Given the description of an element on the screen output the (x, y) to click on. 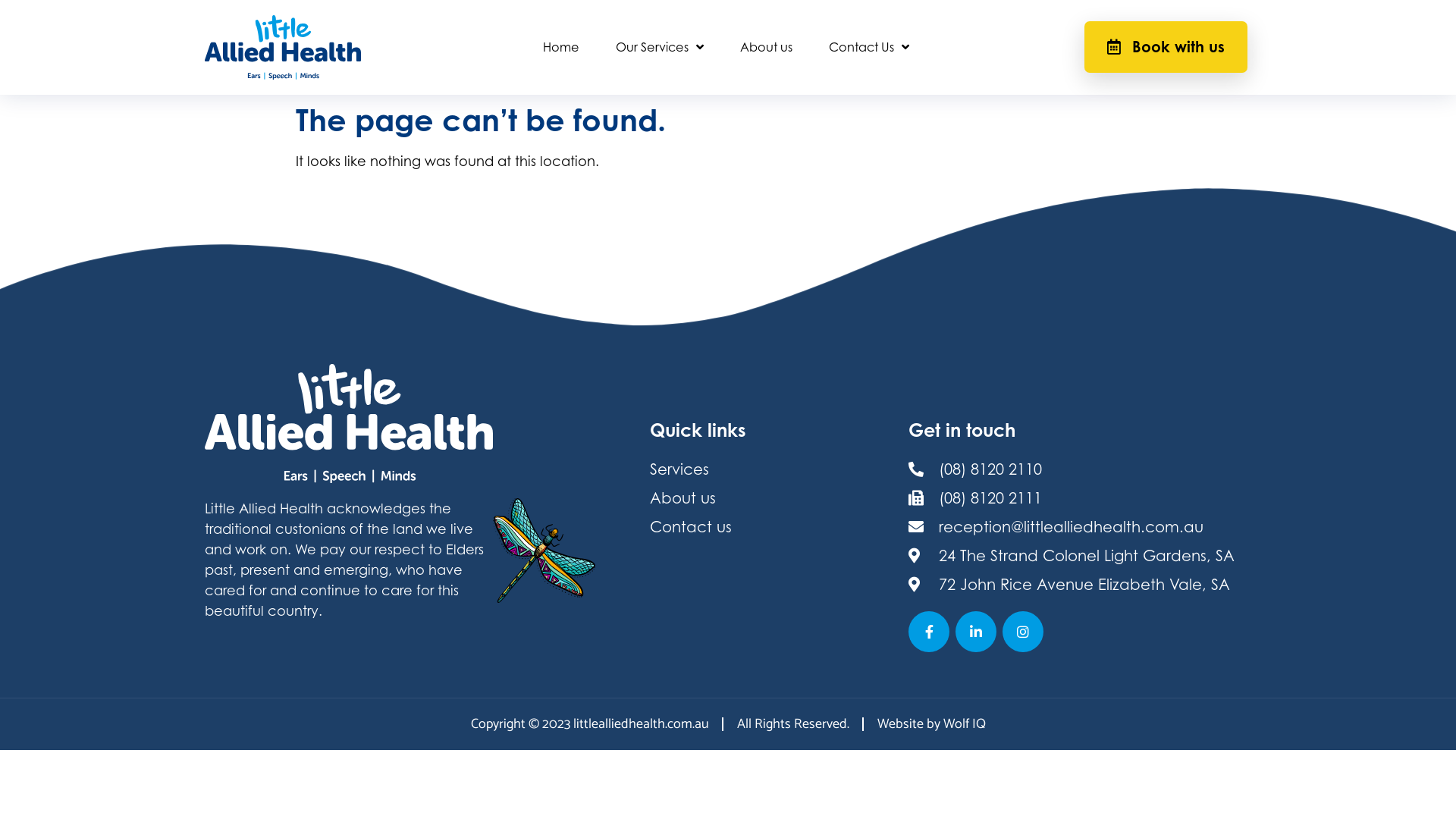
Our Services Element type: text (659, 46)
littlealliedhealth.com.au Element type: text (641, 723)
reception@littlealliedhealth.com.au Element type: text (1077, 526)
About us Element type: text (771, 497)
72 John Rice Avenue Elizabeth Vale, SA Element type: text (1077, 584)
(08) 8120 2110 Element type: text (1077, 469)
Book with us Element type: text (1165, 46)
About us Element type: text (765, 46)
24 The Strand Colonel Light Gardens, SA Element type: text (1077, 555)
Home Element type: text (560, 46)
Contact Us Element type: text (868, 46)
Contact us Element type: text (771, 526)
Services Element type: text (771, 469)
Website by Wolf IQ Element type: text (930, 723)
